Given the description of an element on the screen output the (x, y) to click on. 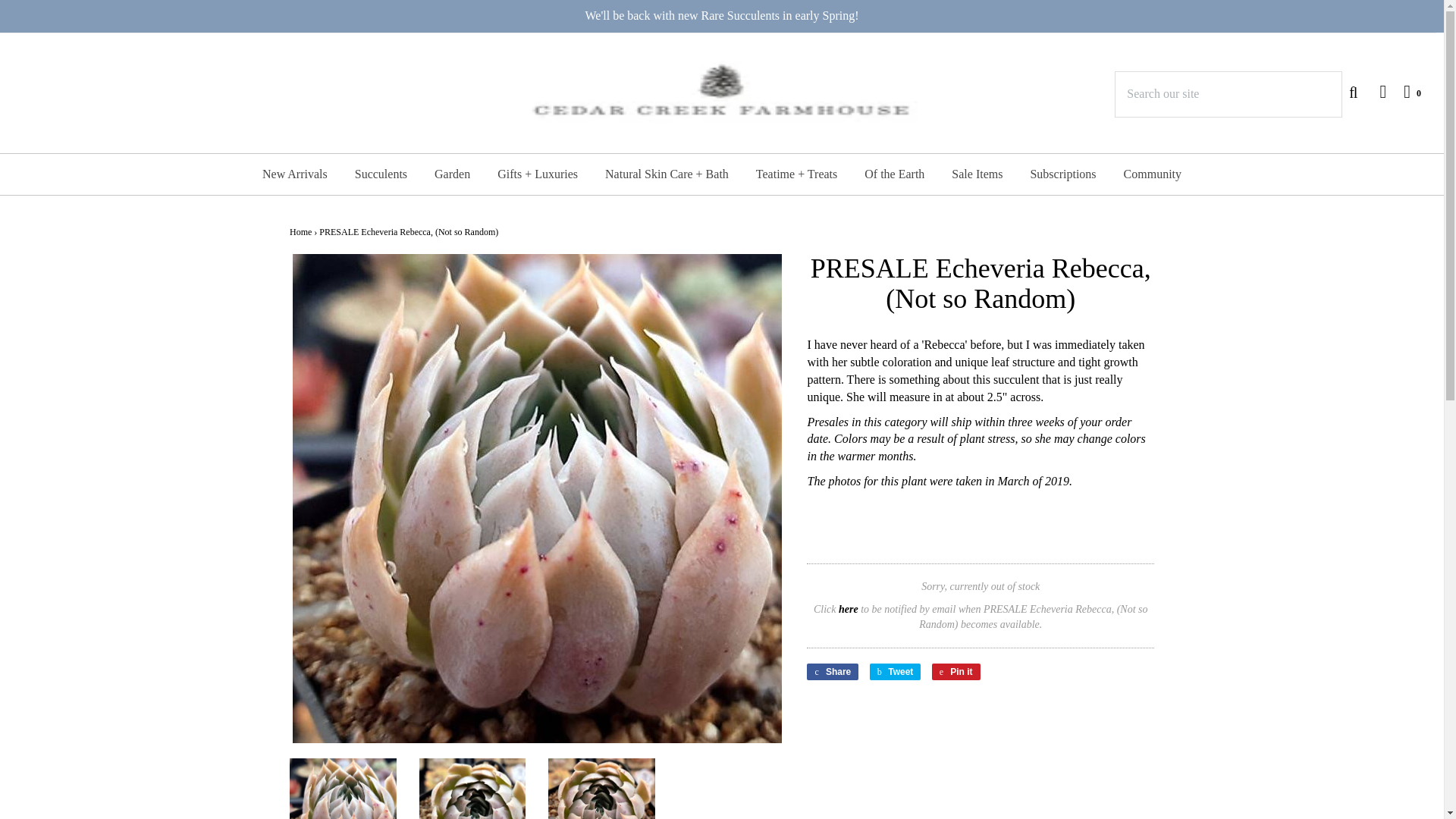
Your Cart (1405, 91)
We'll be back with new Rare Succulents in early Spring! (722, 16)
Back to the frontpage (300, 231)
New Arrivals (294, 174)
0 (1405, 91)
Garden (452, 174)
Succulents (381, 174)
Search our site (1228, 94)
Log in (1375, 91)
